Given the description of an element on the screen output the (x, y) to click on. 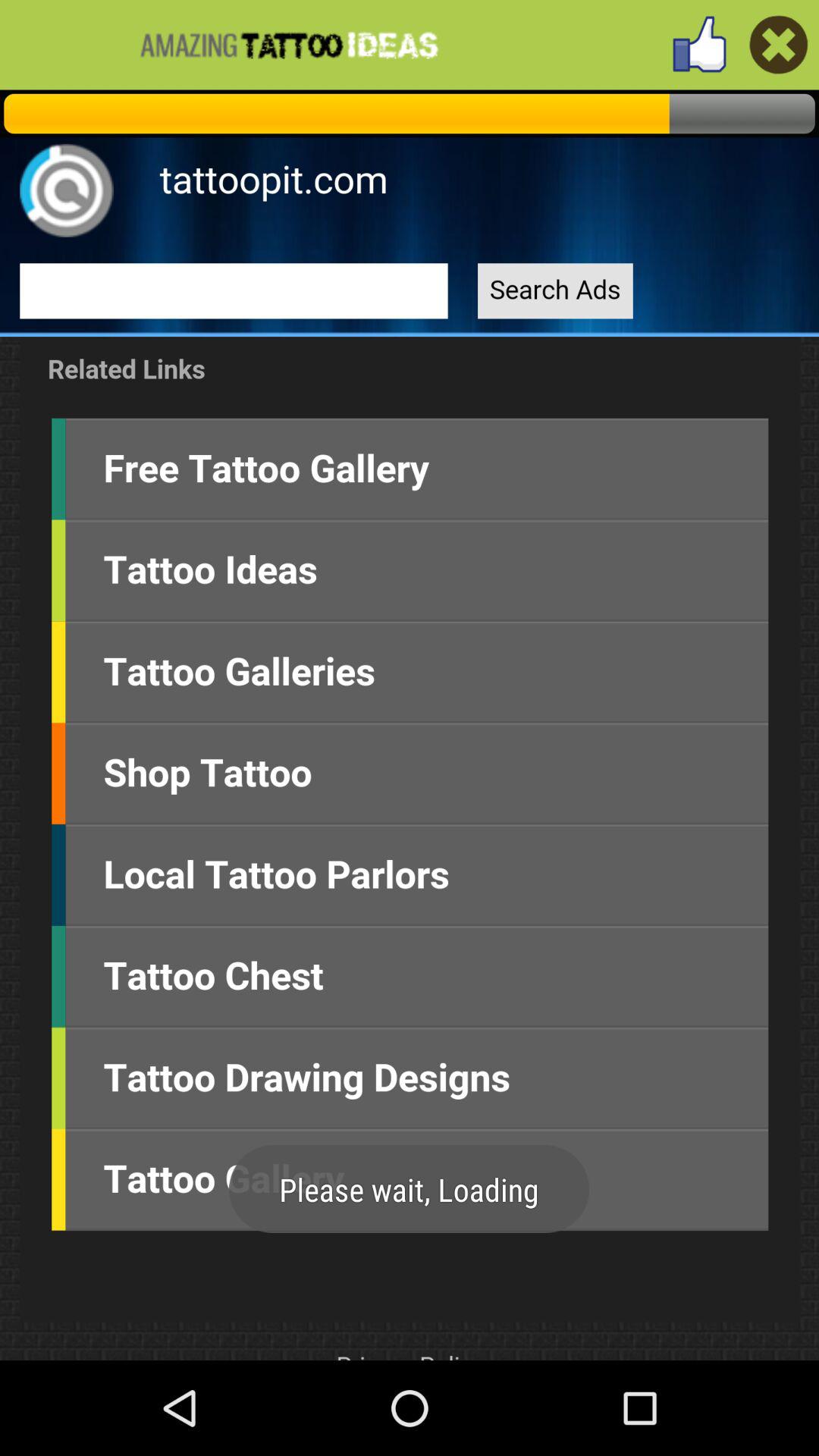
like the app button (699, 44)
